Given the description of an element on the screen output the (x, y) to click on. 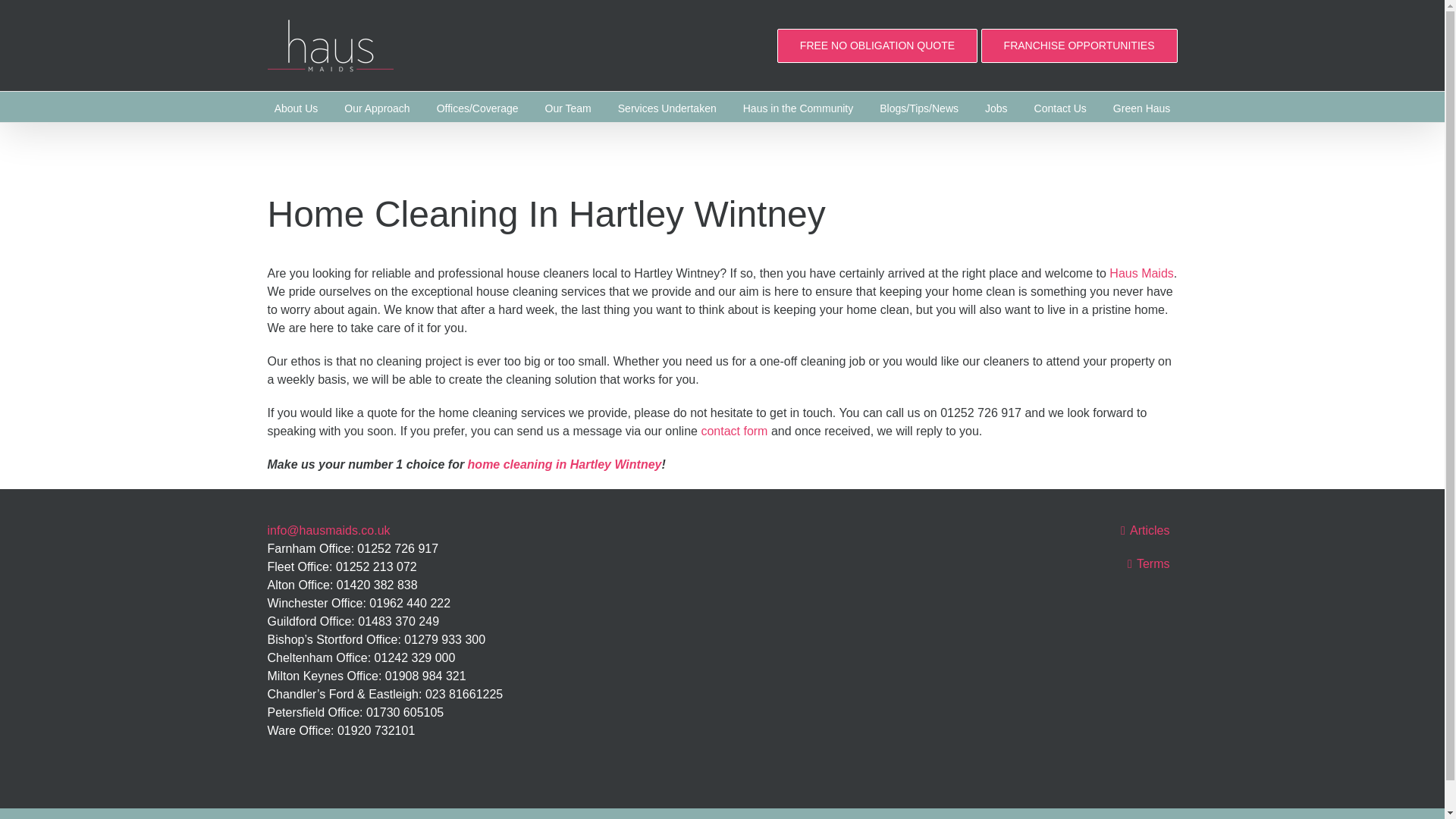
FRANCHISE OPPORTUNITIES (1079, 45)
About Us (296, 106)
FREE NO OBLIGATION QUOTE (876, 45)
Our Team (567, 106)
Services Undertaken (666, 106)
Contact Us (1059, 106)
Green Haus (1141, 106)
Haus in the Community (797, 106)
Our Approach (376, 106)
